Given the description of an element on the screen output the (x, y) to click on. 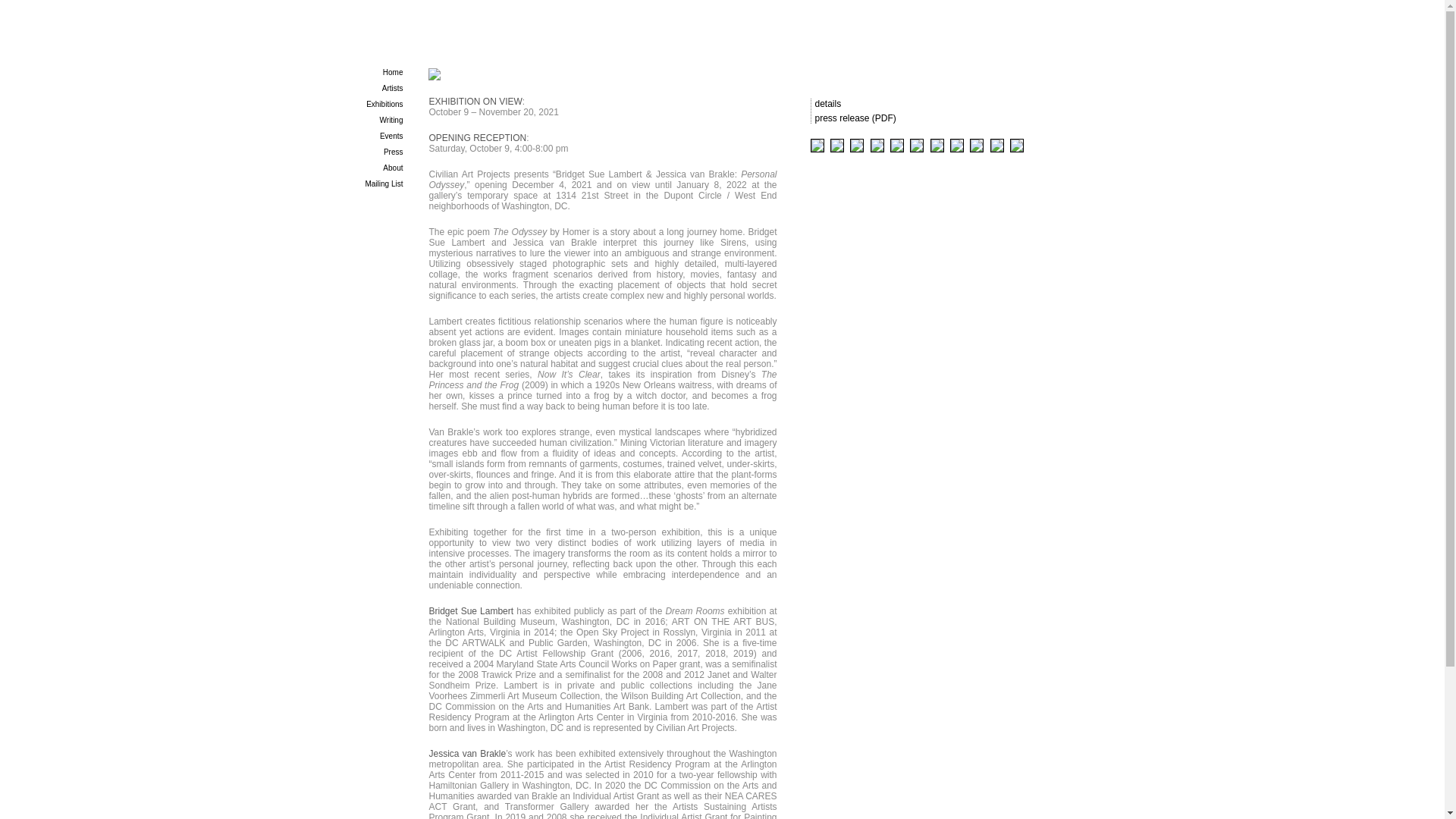
Mailing List (384, 183)
My Dreams Won't Be Complete Without You (818, 153)
Home (392, 71)
Start in the Daytime, Go All Night (879, 153)
Press (393, 152)
Exhibitions (384, 103)
Kissing the Princess Breaks the Spell (838, 153)
Events (898, 153)
Writing (391, 135)
What You Want Wants You (391, 120)
The Night of Departure (858, 153)
Between the Worlds (998, 153)
Seeing Backwards in Time (918, 153)
